Given the description of an element on the screen output the (x, y) to click on. 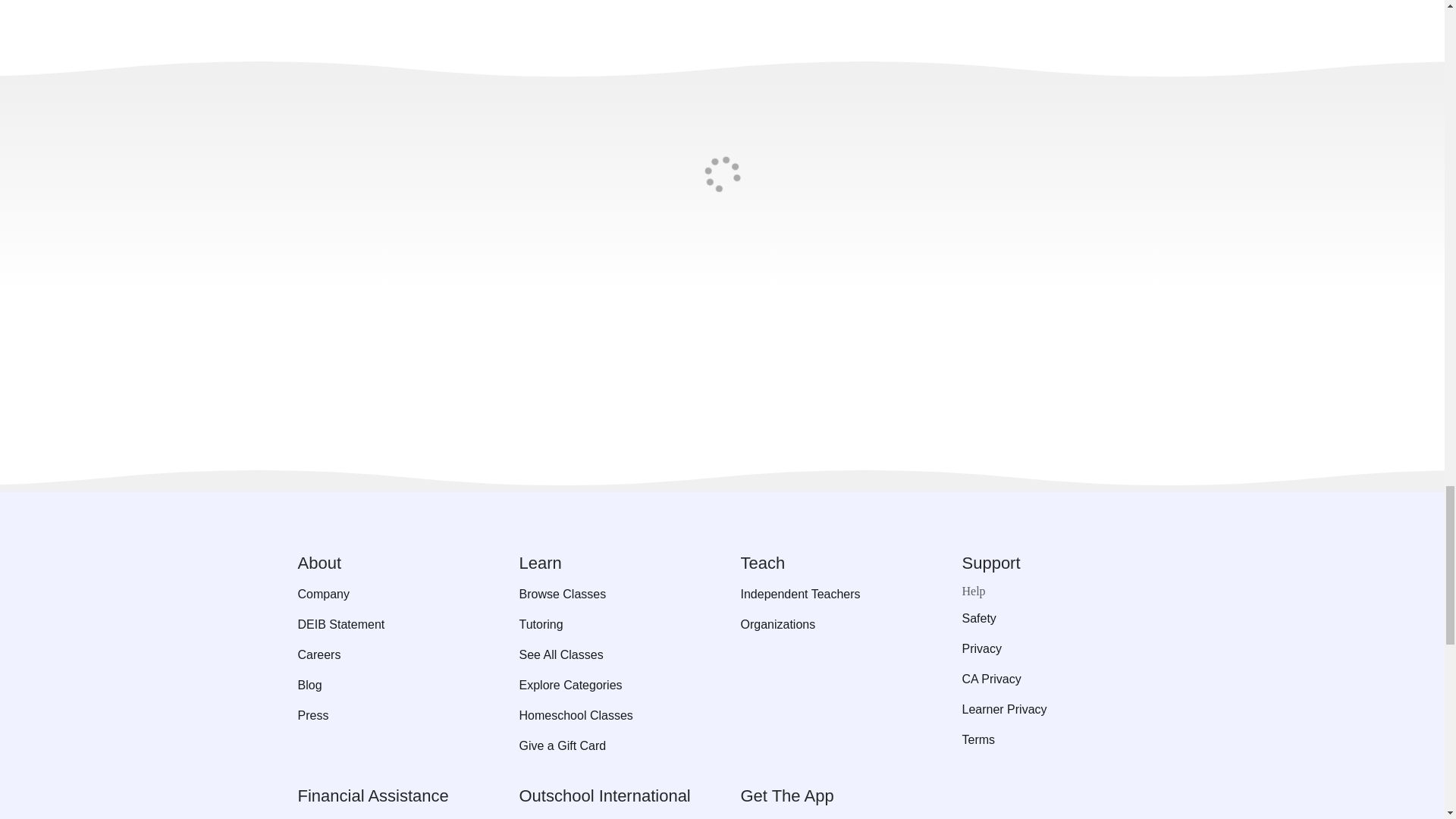
Learner Privacy (1053, 710)
Press (389, 715)
Independent Teachers (831, 594)
Help (1053, 591)
Company (389, 594)
Browse Classes (610, 594)
Terms (1053, 740)
Blog (389, 685)
Privacy (1053, 648)
Careers (389, 655)
